Given the description of an element on the screen output the (x, y) to click on. 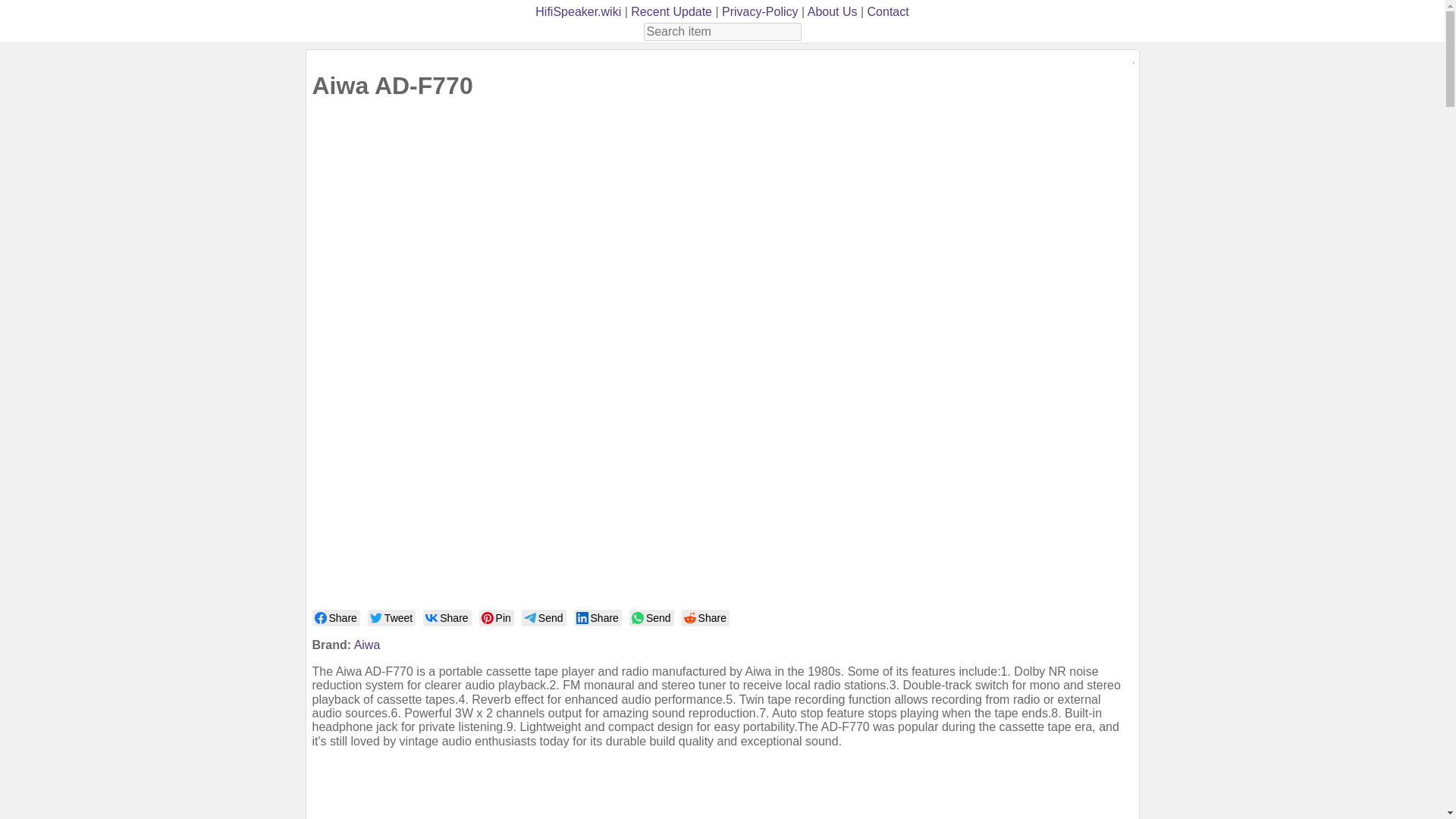
About Us (832, 11)
Recent Update (670, 11)
Advertisement (393, 357)
HifiSpeaker.wiki (578, 11)
Contact (887, 11)
Aiwa (366, 644)
Advertisement (722, 796)
Privacy-Policy (759, 11)
